Given the description of an element on the screen output the (x, y) to click on. 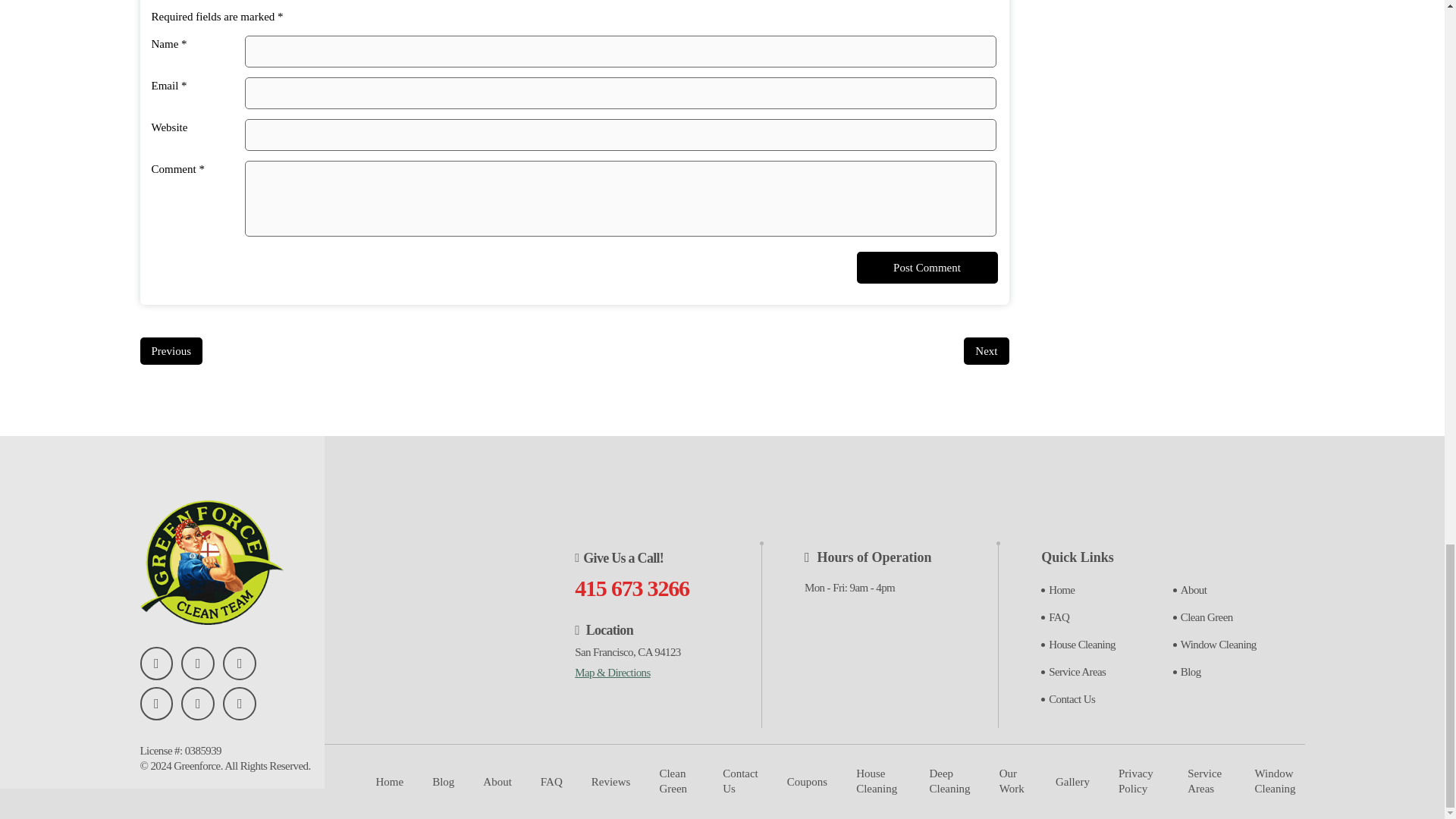
Post Comment (927, 267)
Post Comment (927, 267)
About (1193, 589)
Contact Us (1071, 698)
Clean Green (1206, 616)
Previous (170, 350)
Home (389, 780)
Service Areas (1076, 671)
Window Cleaning (1218, 644)
Greenforce (196, 766)
Next (986, 350)
Home (1061, 589)
House Cleaning (1081, 644)
415 673 3266 (631, 587)
